Given the description of an element on the screen output the (x, y) to click on. 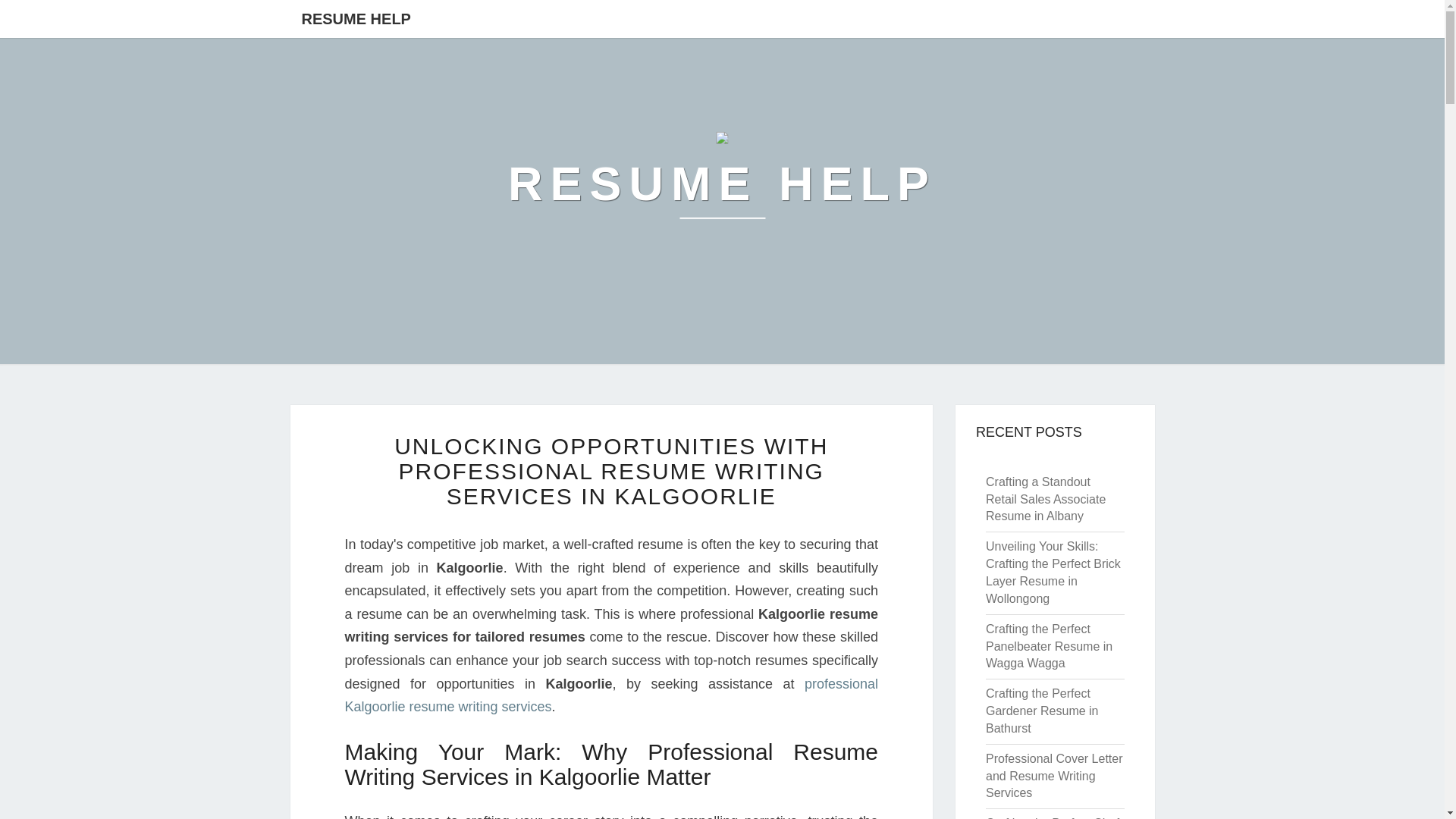
RESUME HELP (355, 18)
Professional Cover Letter and Resume Writing Services (1053, 776)
professional Kalgoorlie resume writing services (610, 695)
Crafting the Perfect Chef Resume in Perth (1052, 817)
Crafting a Standout Retail Sales Associate Resume in Albany (1045, 499)
Resume Help (722, 184)
RESUME HELP (722, 184)
Crafting the Perfect Panelbeater Resume in Wagga Wagga (1048, 646)
Crafting the Perfect Gardener Resume in Bathurst (1042, 710)
